Given the description of an element on the screen output the (x, y) to click on. 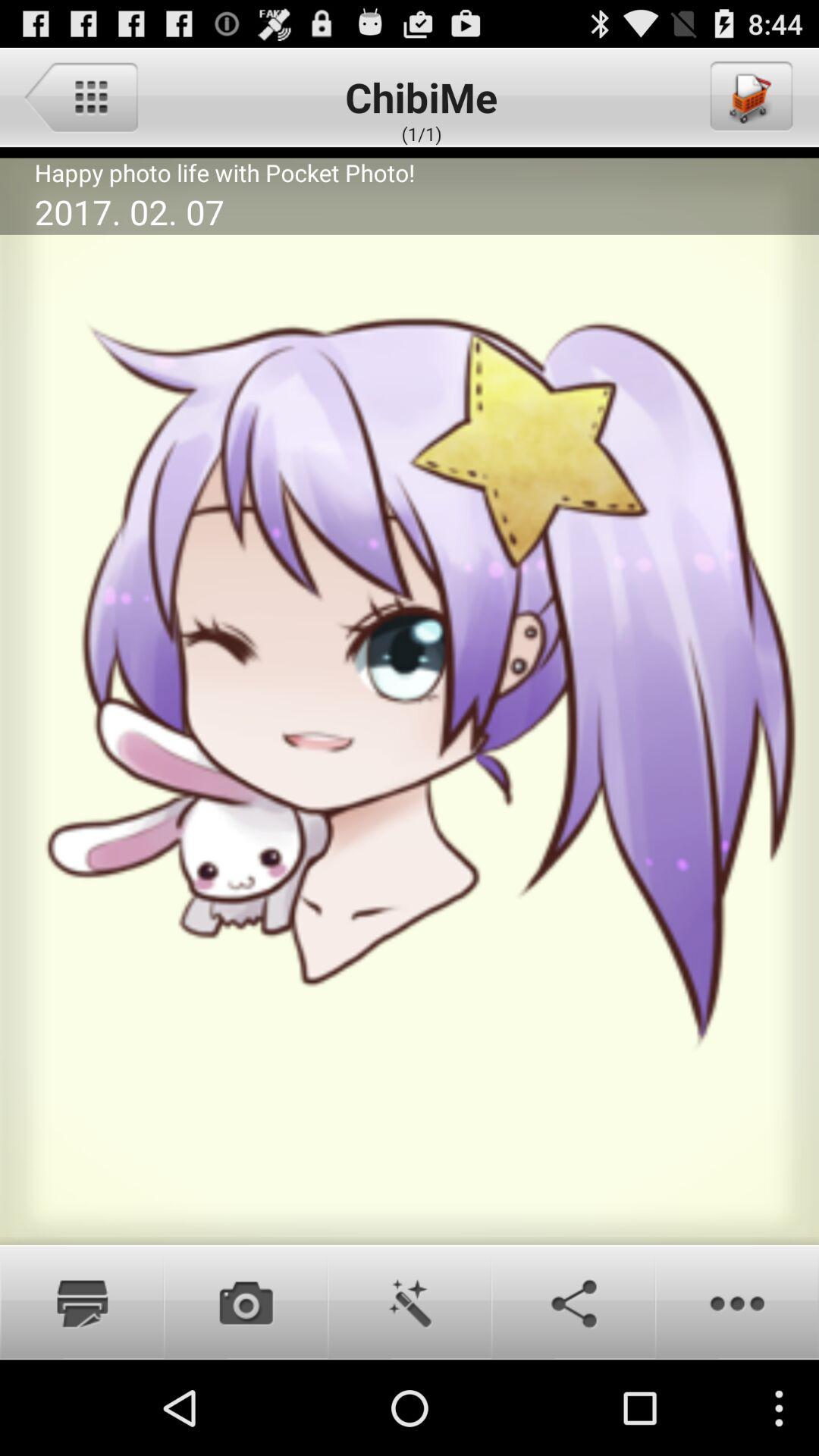
camera button (245, 1301)
